Given the description of an element on the screen output the (x, y) to click on. 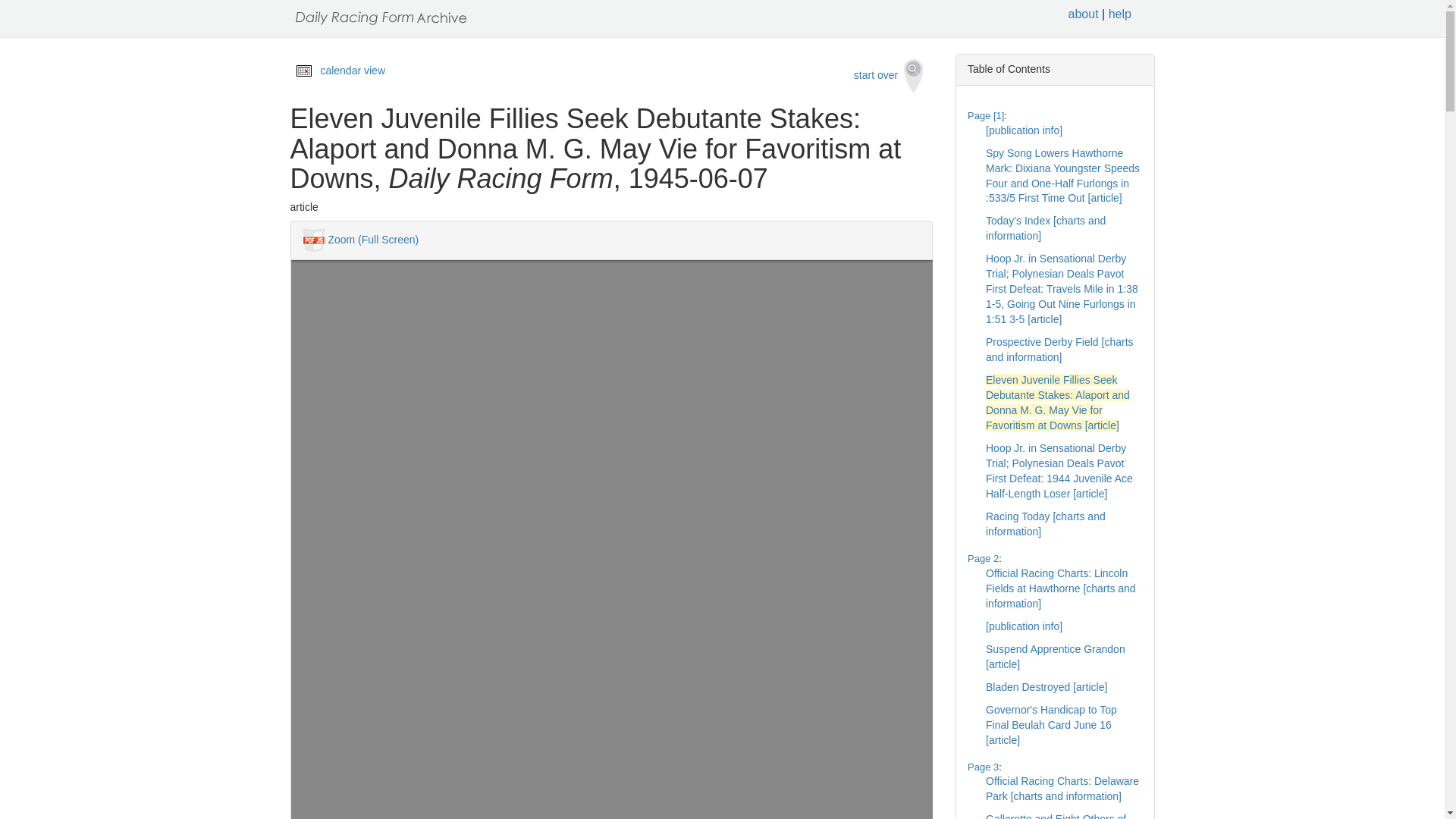
Page 2 (983, 558)
Page 3 (983, 767)
start over   (888, 76)
calendar view (352, 70)
